Given the description of an element on the screen output the (x, y) to click on. 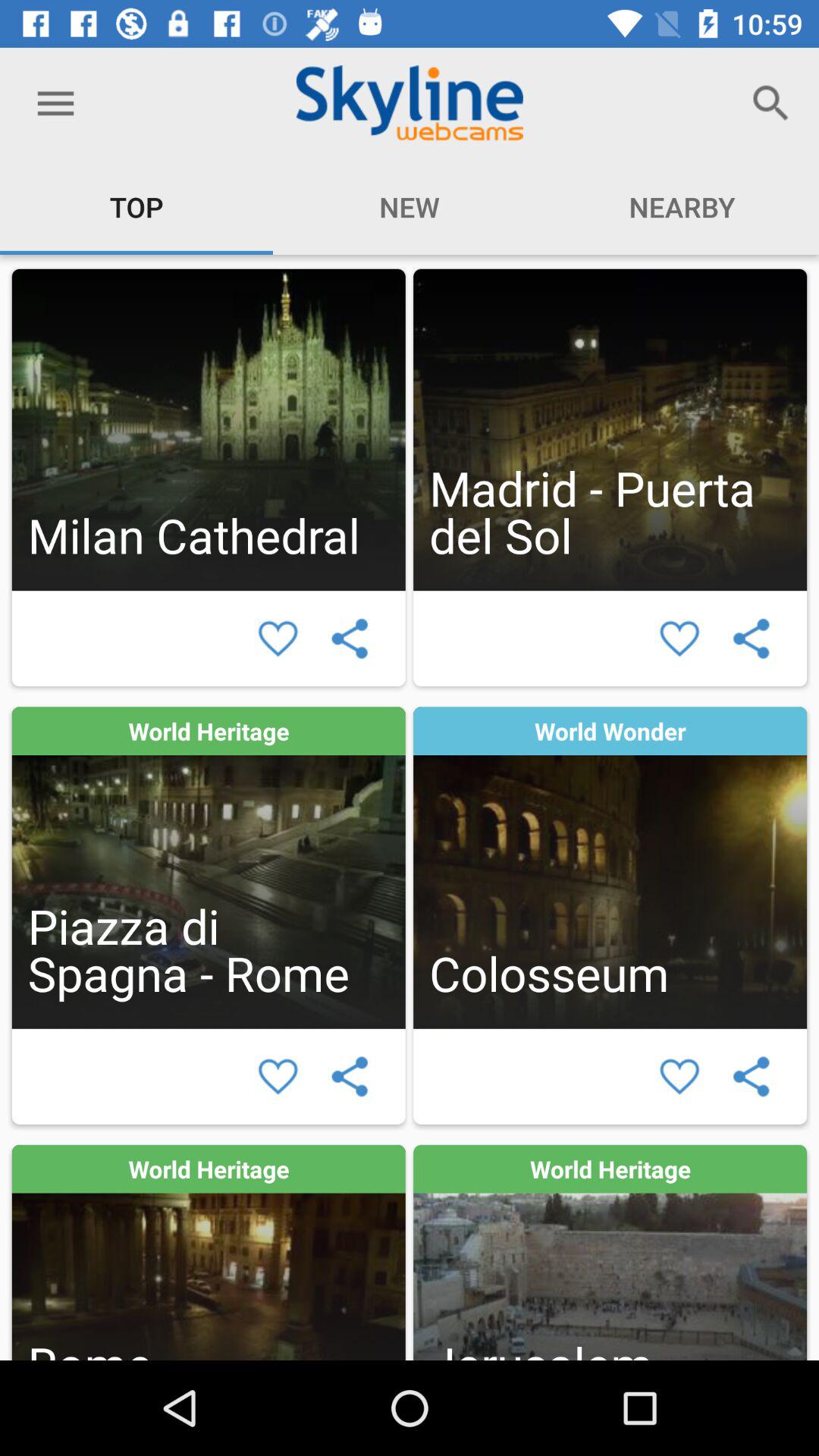
share selected webcam (751, 1076)
